Given the description of an element on the screen output the (x, y) to click on. 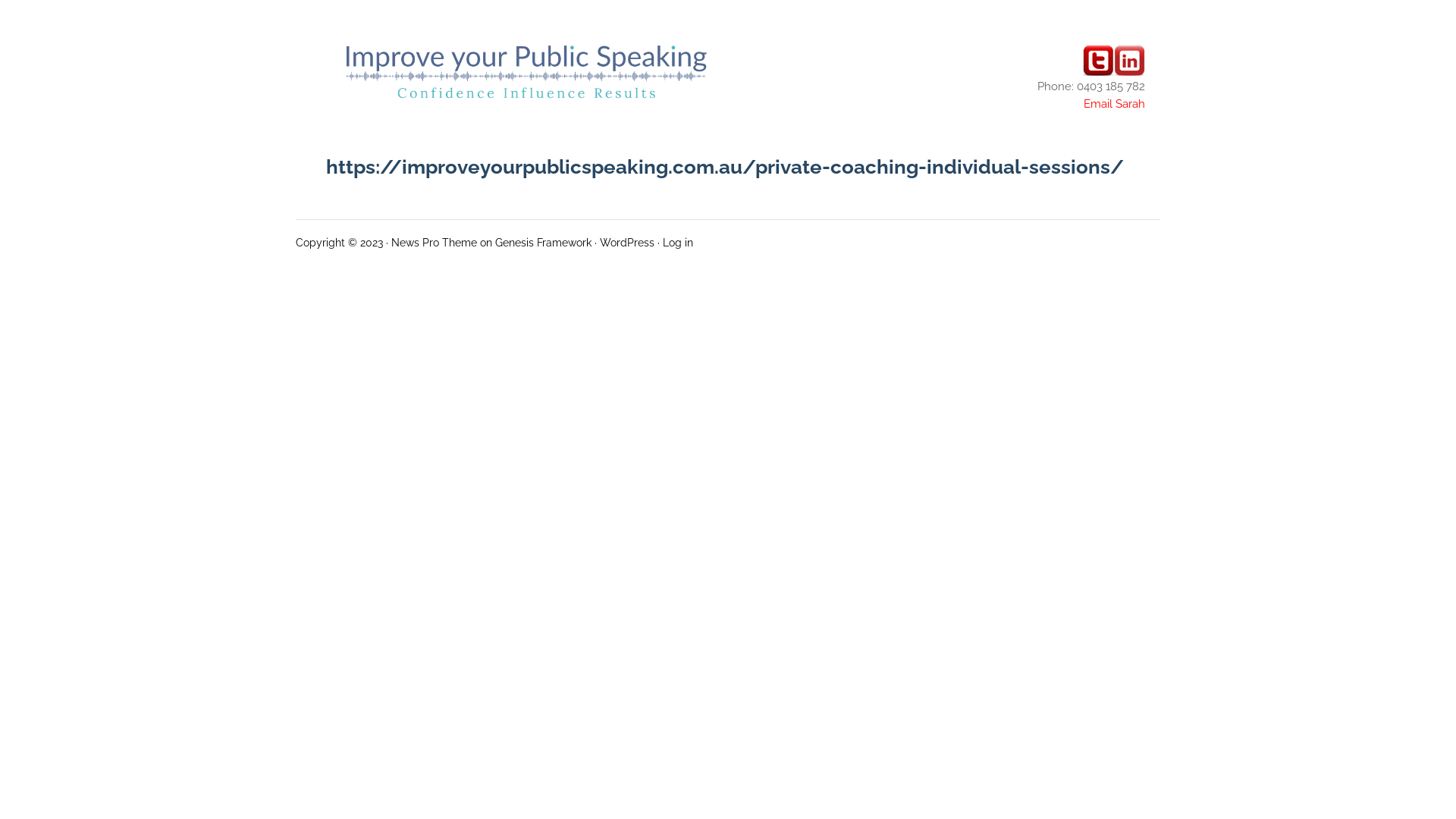
Genesis Framework Element type: text (543, 242)
Log in Element type: text (677, 242)
News Pro Theme Element type: text (433, 242)
WordPress Element type: text (626, 242)
Email Sarah Element type: text (1114, 103)
IMPROVE YOUR PUBLIC SPEAKING TRAINING & COACHING Element type: text (525, 70)
